Given the description of an element on the screen output the (x, y) to click on. 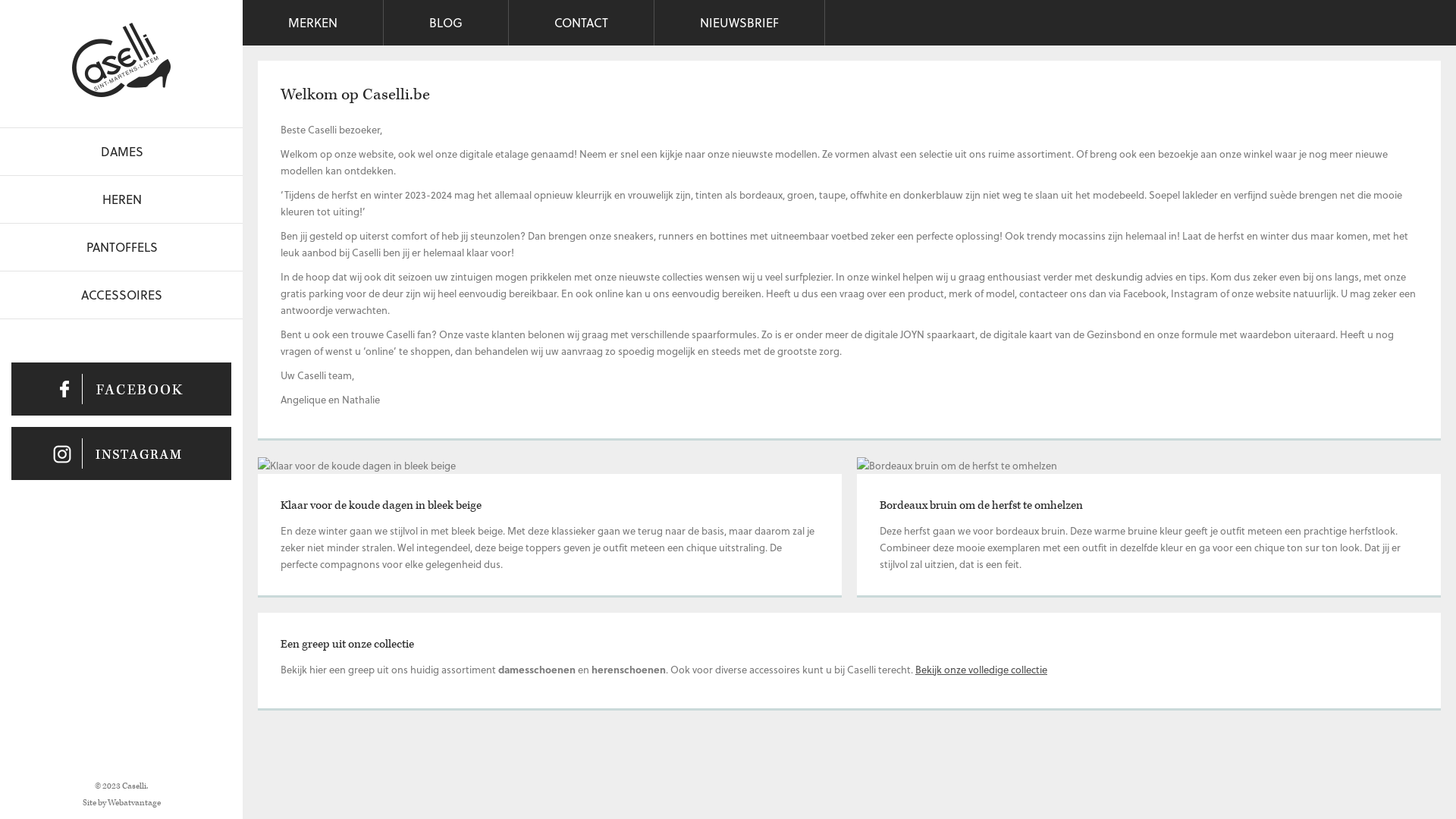
Caselli op Instagram Element type: text (121, 453)
Bordeaux bruin om de herfst te omhelzen  Element type: hover (956, 465)
Klaar voor de koude dagen in bleek beige Element type: text (380, 505)
MERKEN Element type: text (312, 22)
Caselli Element type: text (121, 59)
Webatvantage Element type: text (133, 802)
Bekijk onze volledige collectie Element type: text (981, 669)
CONTACT Element type: text (581, 22)
NIEUWSBRIEF Element type: text (739, 22)
Caselli op Facebook Element type: text (121, 388)
BLOG Element type: text (445, 22)
Bordeaux bruin om de herfst te omhelzen Element type: text (980, 505)
Klaar voor de koude dagen in bleek beige  Element type: hover (356, 465)
